Given the description of an element on the screen output the (x, y) to click on. 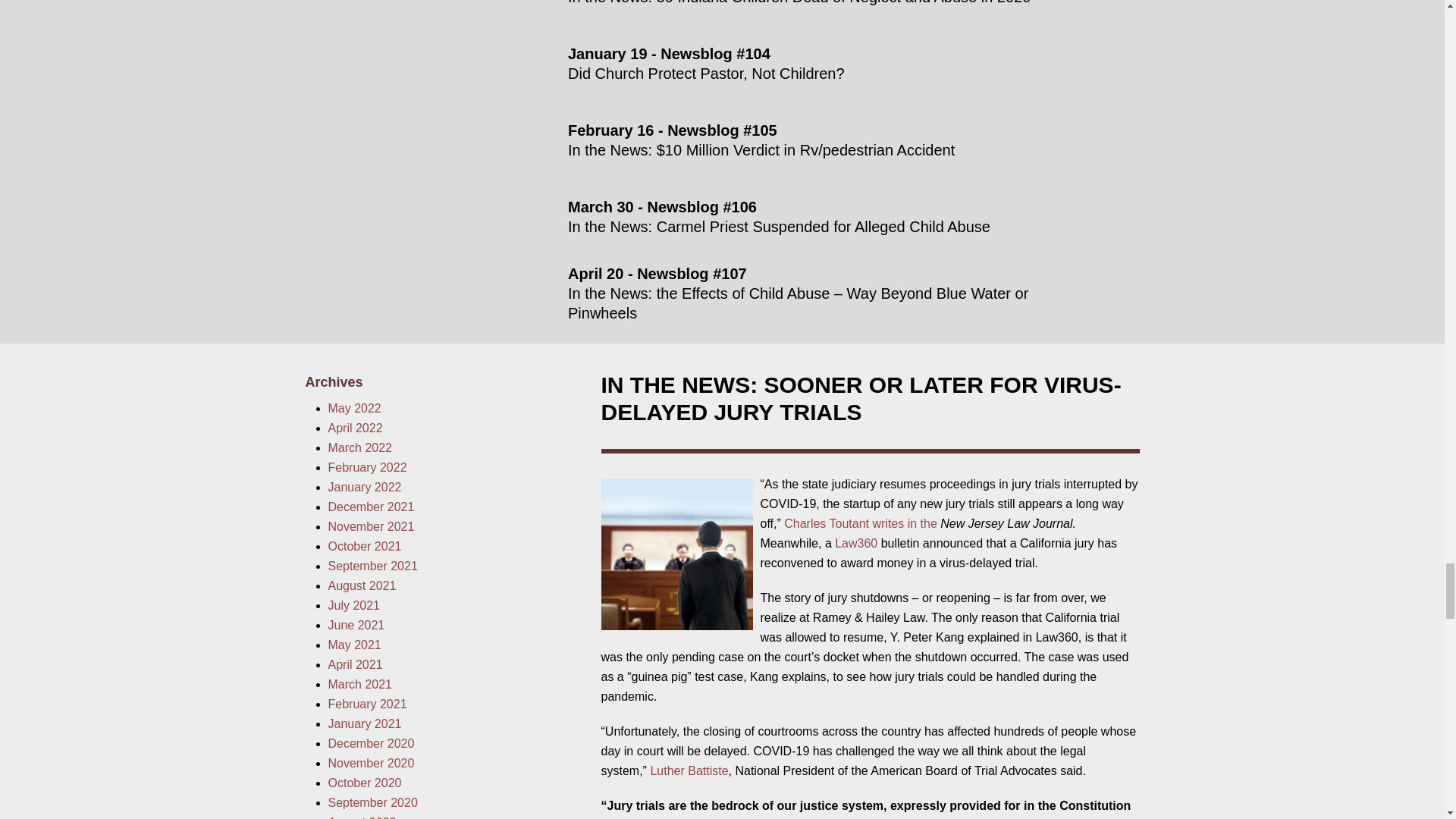
Charles Toutant writes in the (862, 522)
Luther Battiste (688, 770)
back of attastor talking to magistrate in court (675, 553)
Law360 (855, 543)
